Given the description of an element on the screen output the (x, y) to click on. 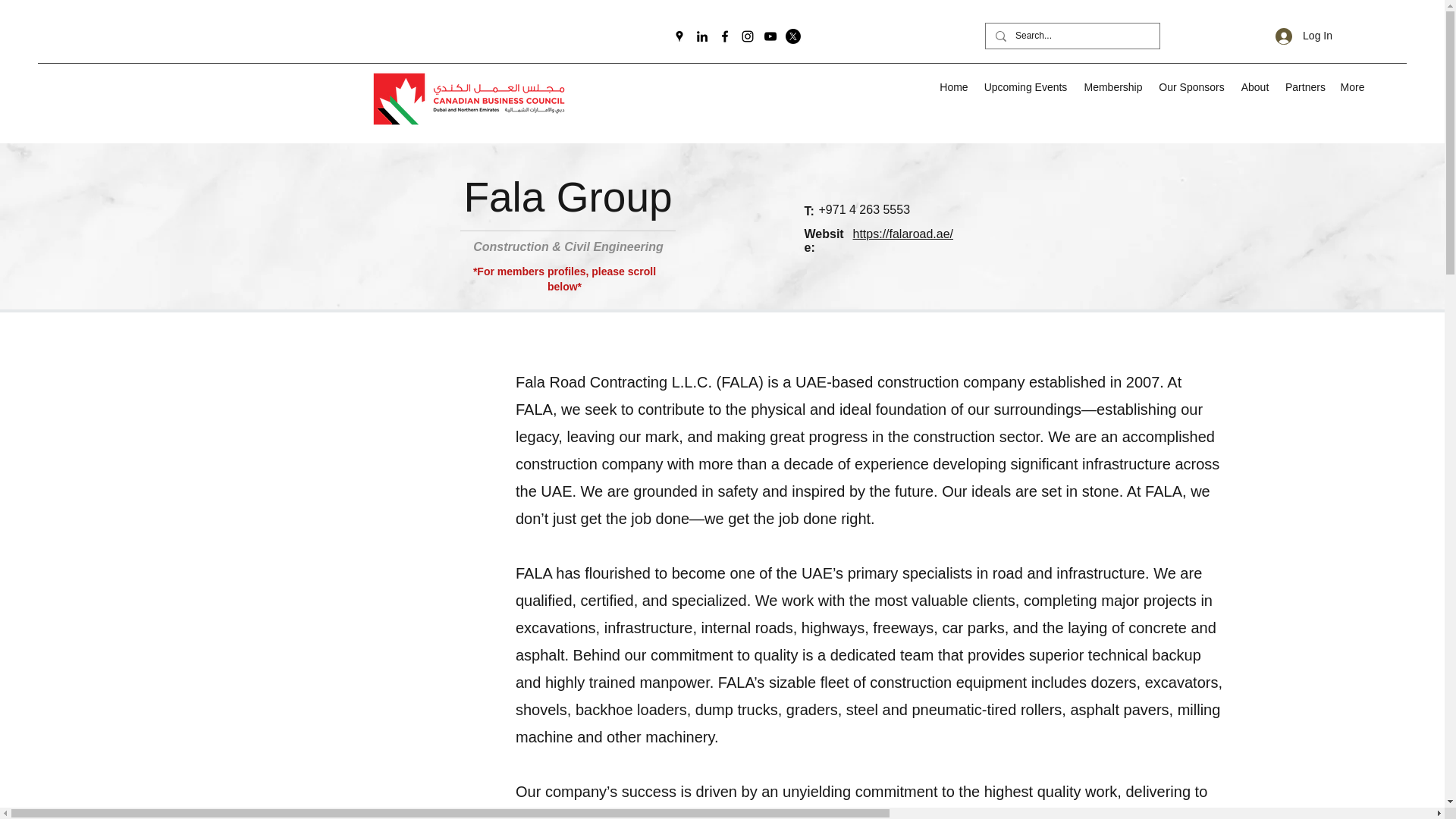
Log In (1303, 35)
Home (953, 86)
About (1254, 86)
Upcoming Events (1025, 86)
Partners (1305, 86)
Membership (1113, 86)
Our Sponsors (1191, 86)
